Given the description of an element on the screen output the (x, y) to click on. 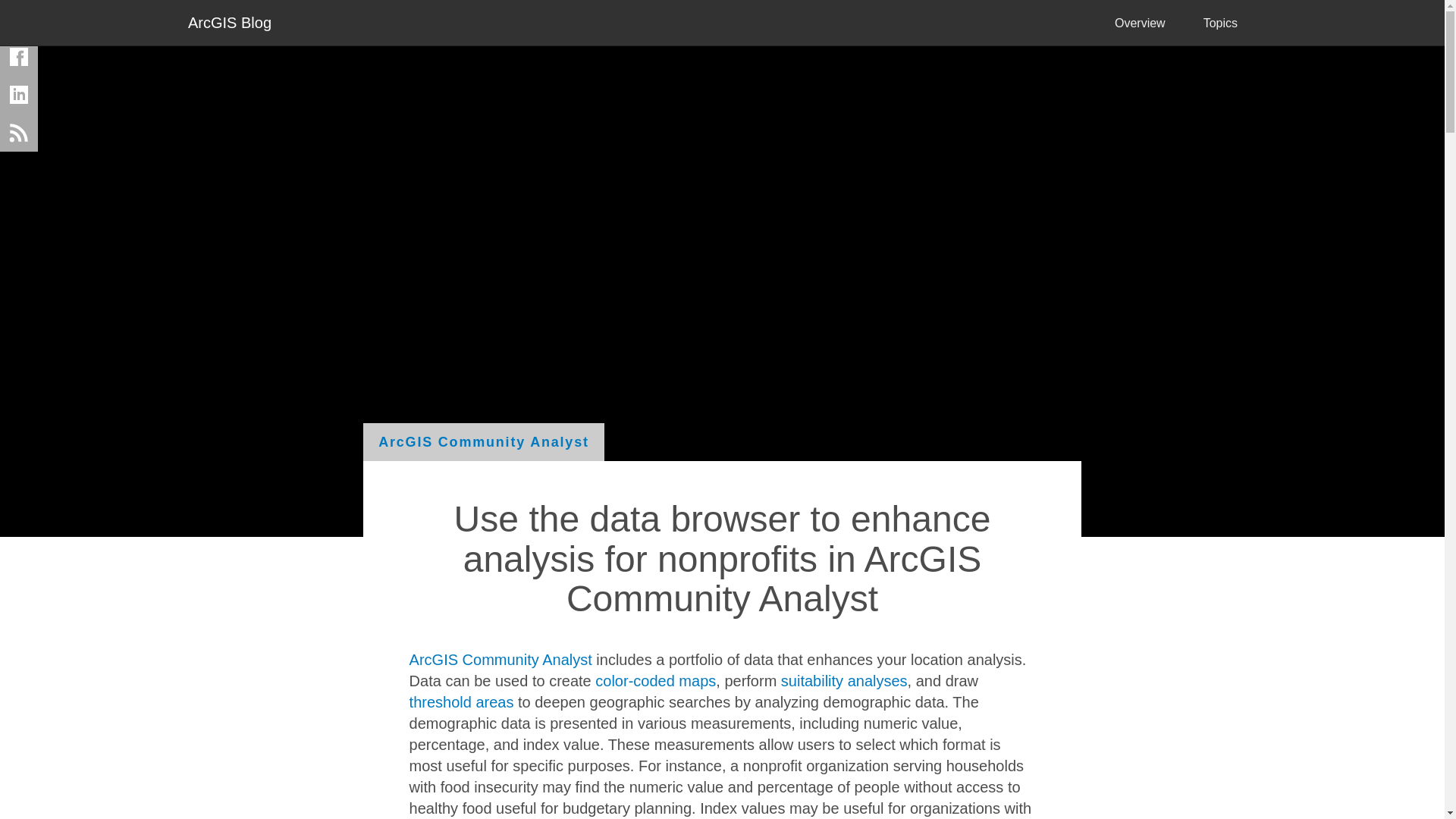
Overview (1140, 22)
ArcGIS Blog (228, 21)
color-coded maps (655, 680)
Topics (1220, 22)
suitability analyses (843, 680)
ArcGIS Community Analyst (483, 442)
threshold areas (461, 701)
ArcGIS Community Analyst (500, 659)
